Given the description of an element on the screen output the (x, y) to click on. 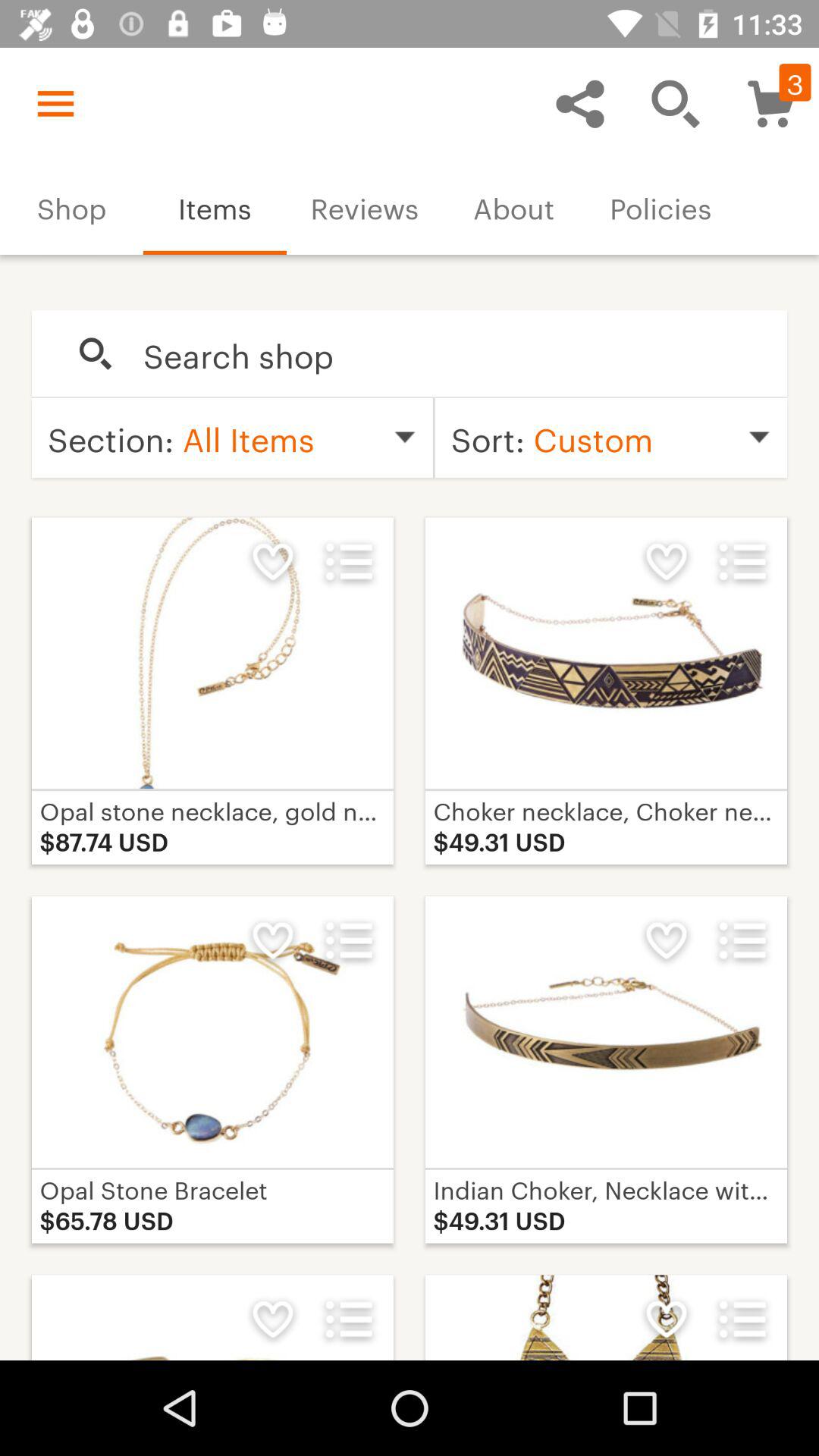
enter the text to search (449, 354)
